Given the description of an element on the screen output the (x, y) to click on. 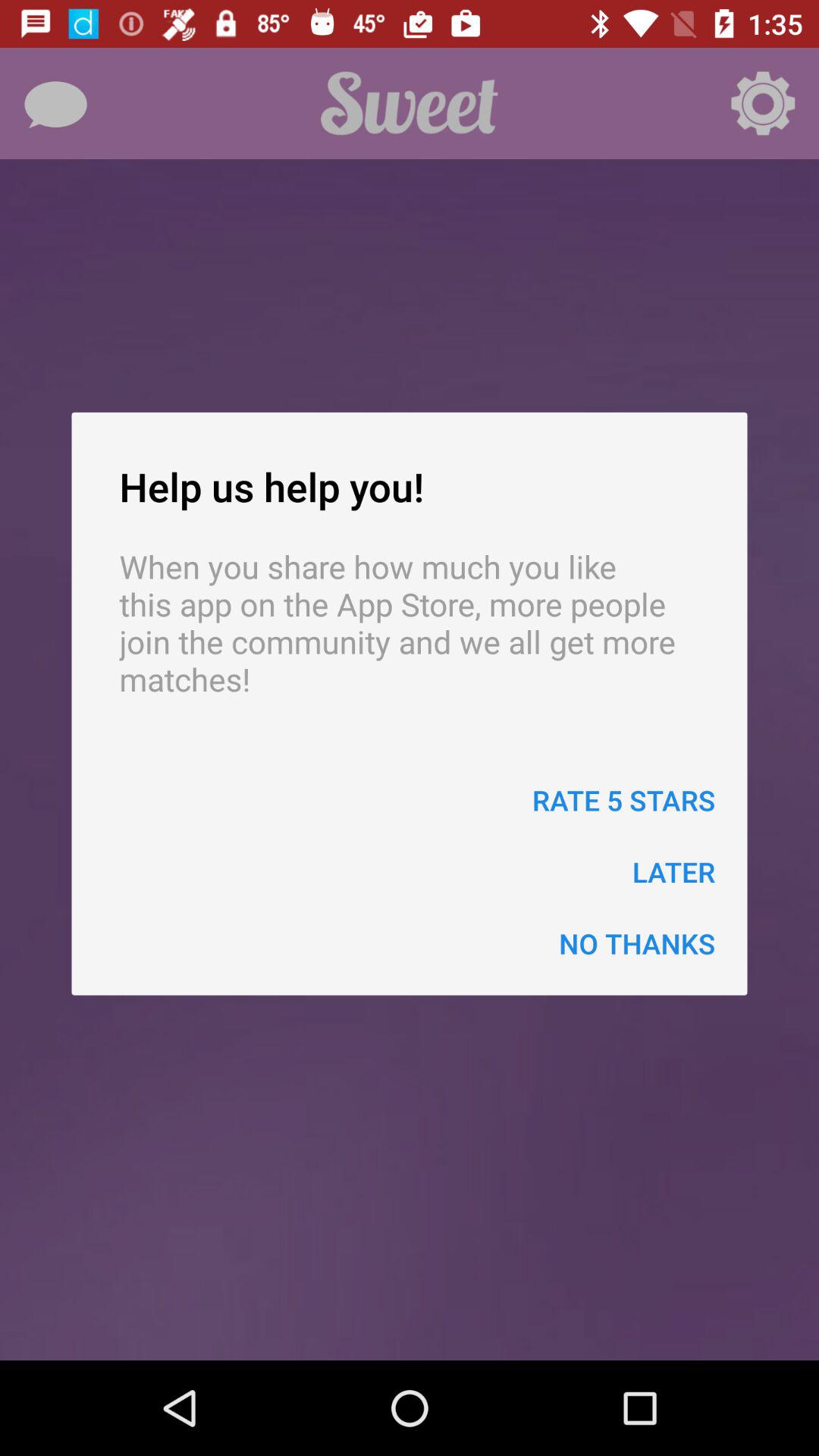
choose rate 5 stars item (623, 800)
